Given the description of an element on the screen output the (x, y) to click on. 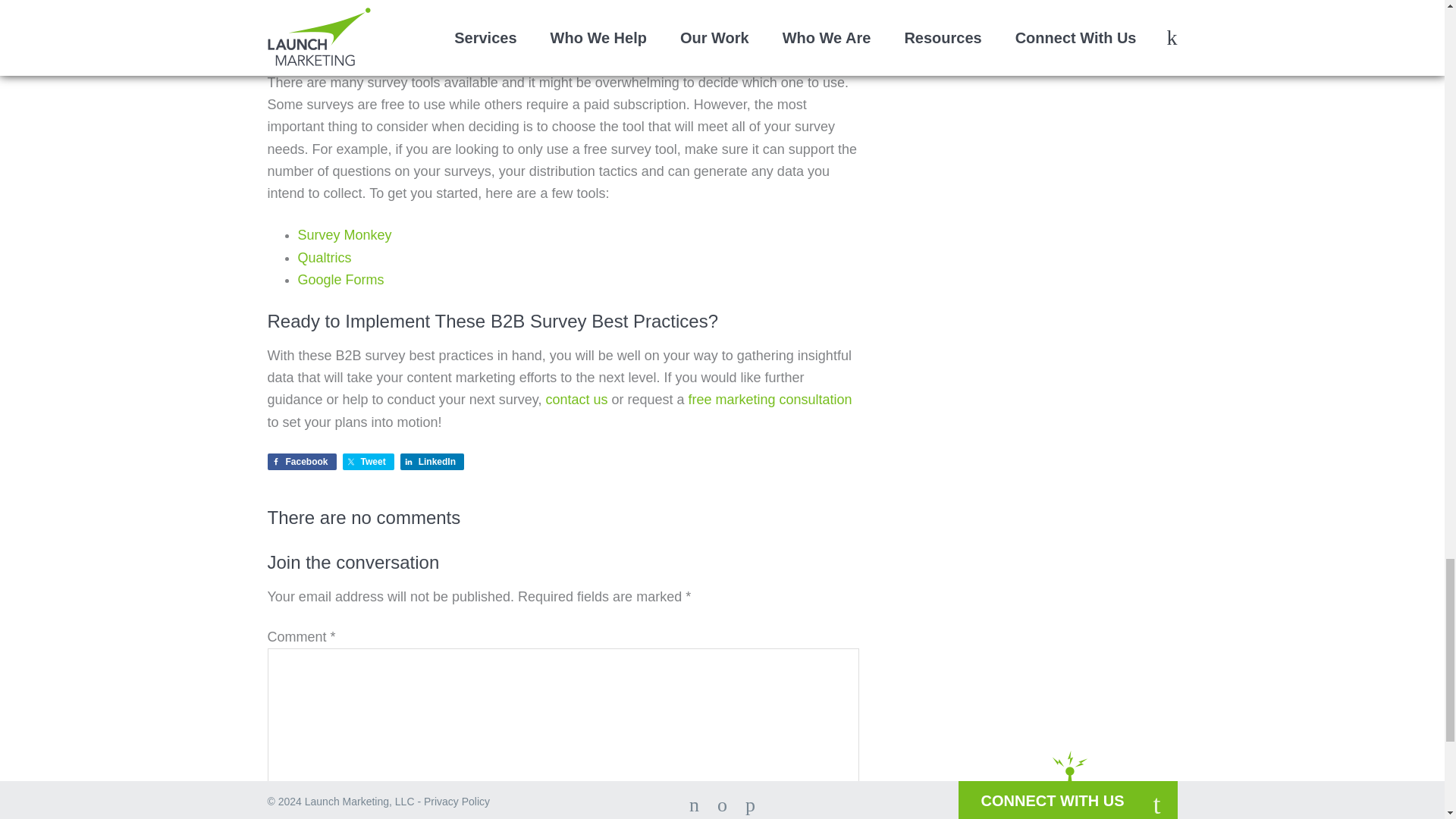
Share on Facebook (301, 461)
Share on Twitter (368, 461)
Share on LinkedIn (432, 461)
